Given the description of an element on the screen output the (x, y) to click on. 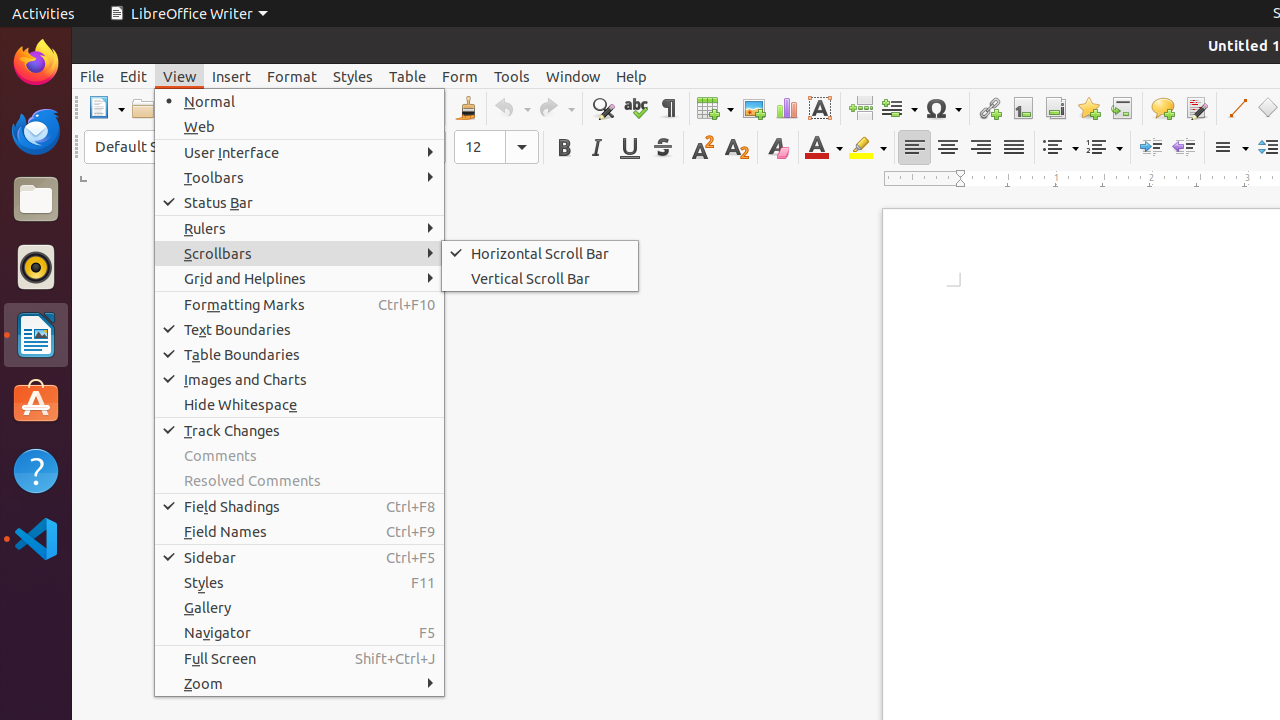
Field Names Element type: check-menu-item (299, 531)
Formatting Marks Element type: toggle-button (668, 108)
User Interface Element type: menu (299, 152)
Find & Replace Element type: toggle-button (602, 108)
Table Element type: menu (407, 76)
